Given the description of an element on the screen output the (x, y) to click on. 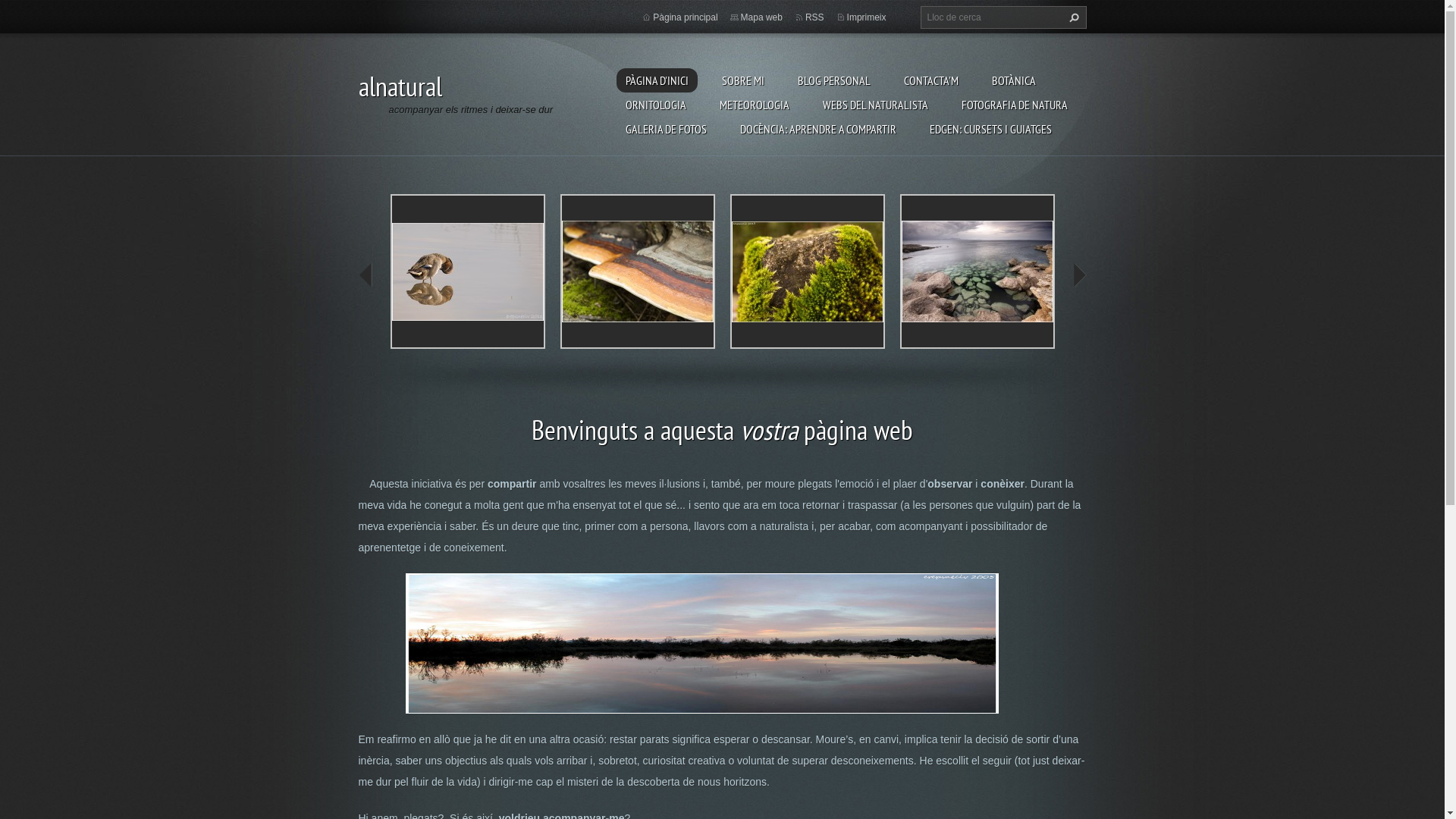
Cerca Element type: text (1071, 17)
GALERIA DE FOTOS Element type: text (665, 128)
RSS Element type: text (814, 17)
Imprimeix Element type: text (866, 17)
FOTOGRAFIA DE NATURA Element type: text (1014, 104)
EDGEN: CURSETS I GUIATGES Element type: text (990, 128)
ORNITOLOGIA Element type: text (654, 104)
BLOG PERSONAL Element type: text (833, 80)
METEOROLOGIA Element type: text (753, 104)
CONTACTA'M Element type: text (930, 80)
SOBRE MI Element type: text (742, 80)
prev Element type: text (365, 275)
next Element type: text (1077, 275)
WEBS DEL NATURALISTA Element type: text (874, 104)
Mapa web Element type: text (761, 17)
